Given the description of an element on the screen output the (x, y) to click on. 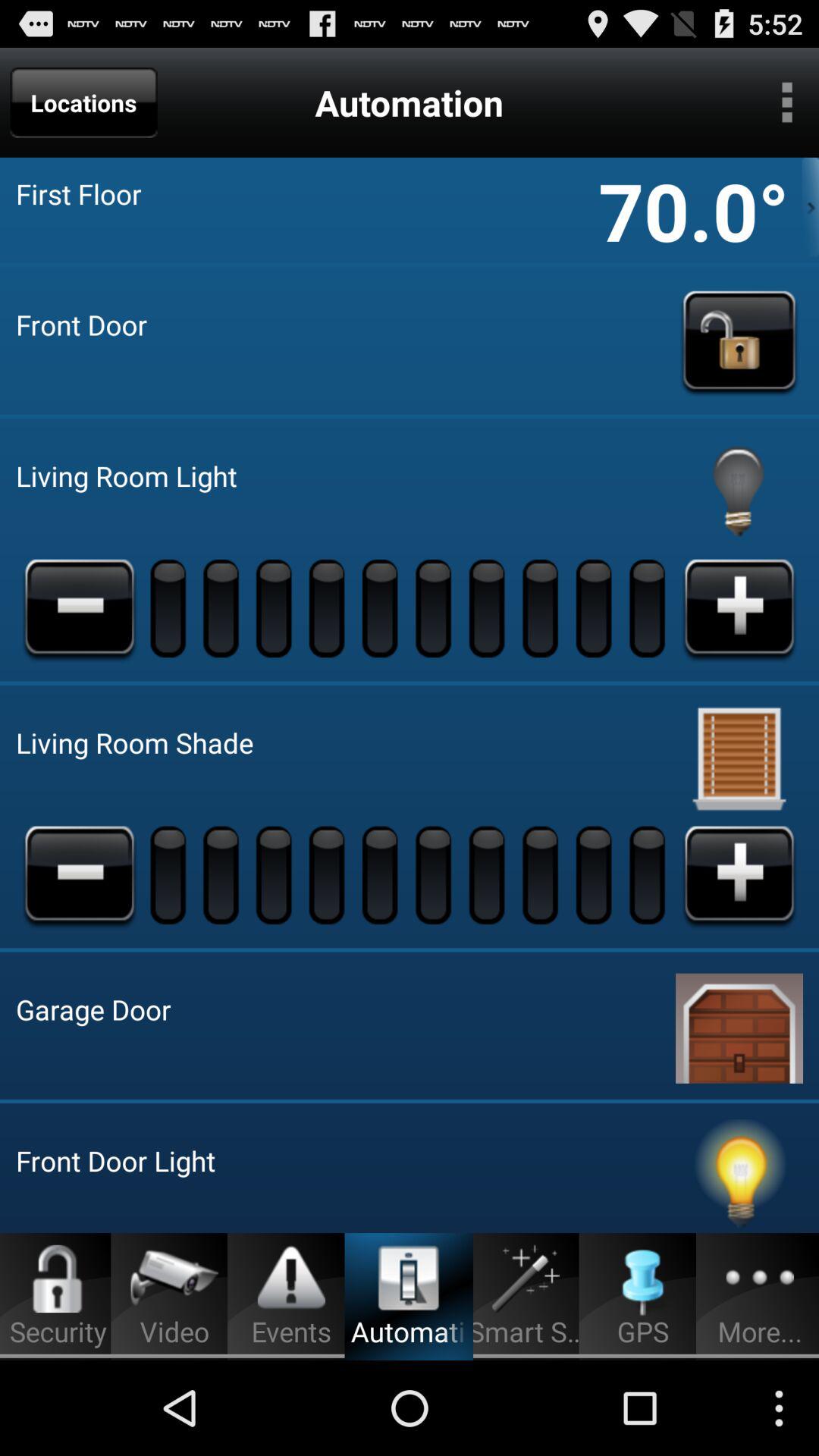
reduce the volume (79, 874)
